Given the description of an element on the screen output the (x, y) to click on. 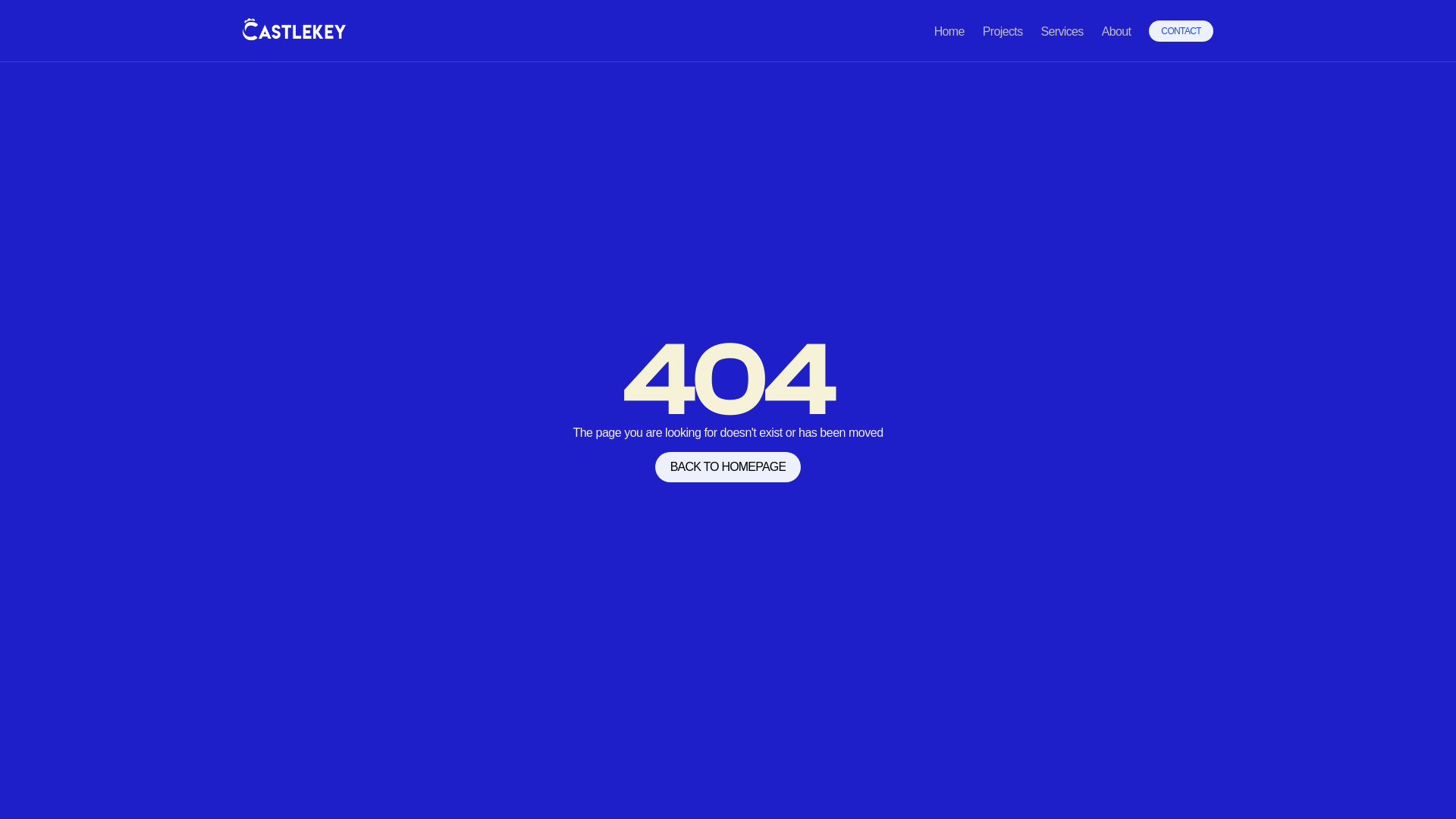
Home Element type: text (949, 31)
About Element type: text (1116, 31)
Projects Element type: text (1002, 31)
BACK TO HOMEPAGE Element type: text (728, 466)
CONTACT Element type: text (1180, 30)
Services Element type: text (1061, 31)
